Given the description of an element on the screen output the (x, y) to click on. 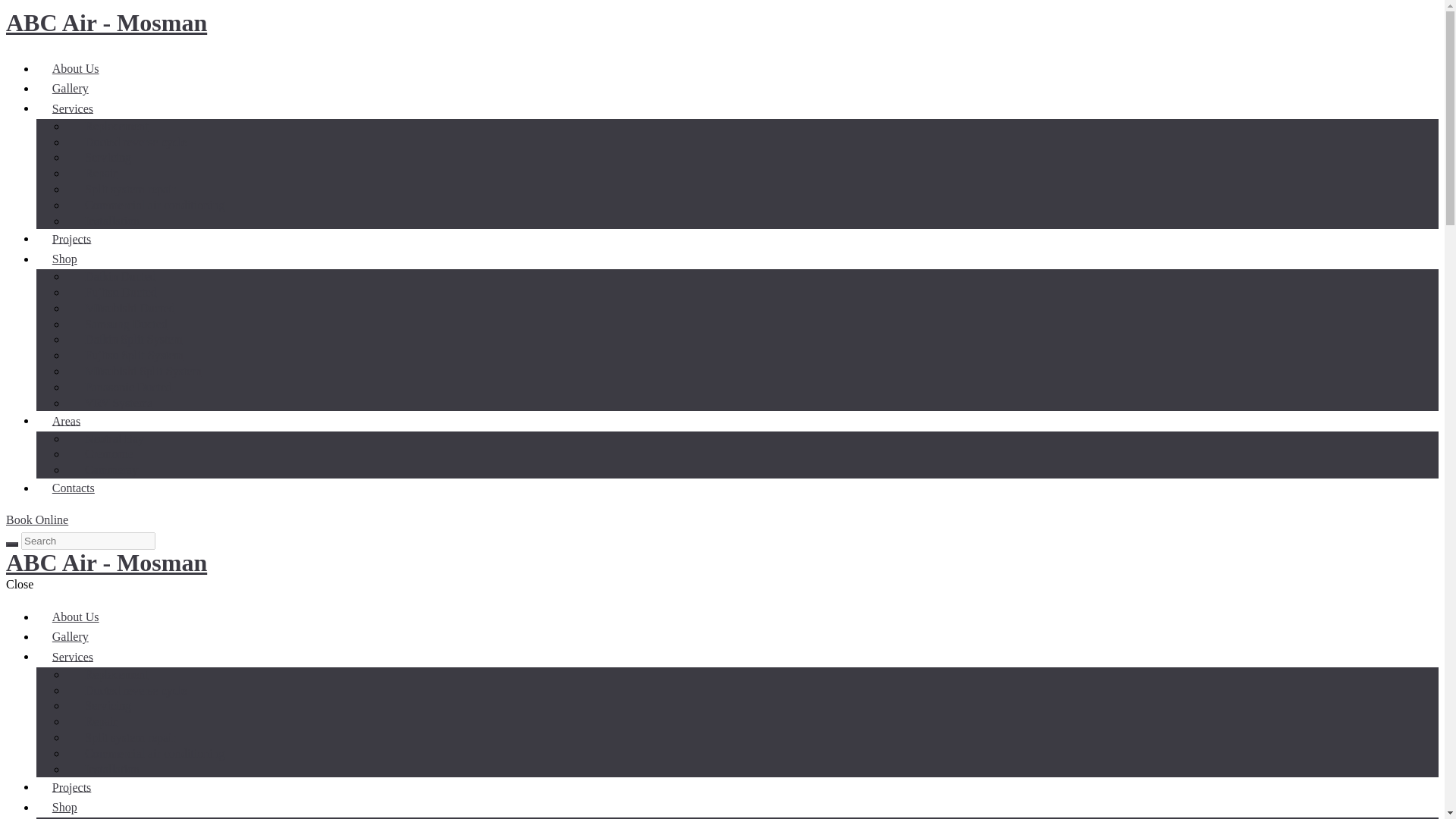
Split system repair (129, 188)
Servicing (107, 705)
Replacement (116, 674)
Mitsubishi Split System (142, 371)
Repair (100, 721)
Ducted reverse cycle (135, 690)
Neutral Bay (113, 438)
Book Online (36, 519)
Panasonic Ducted (128, 386)
Open search (11, 544)
Daikin Split System (133, 339)
Gallery (70, 636)
Ducted reverse cycle (135, 141)
Contacts (73, 488)
Projects (71, 239)
